Given the description of an element on the screen output the (x, y) to click on. 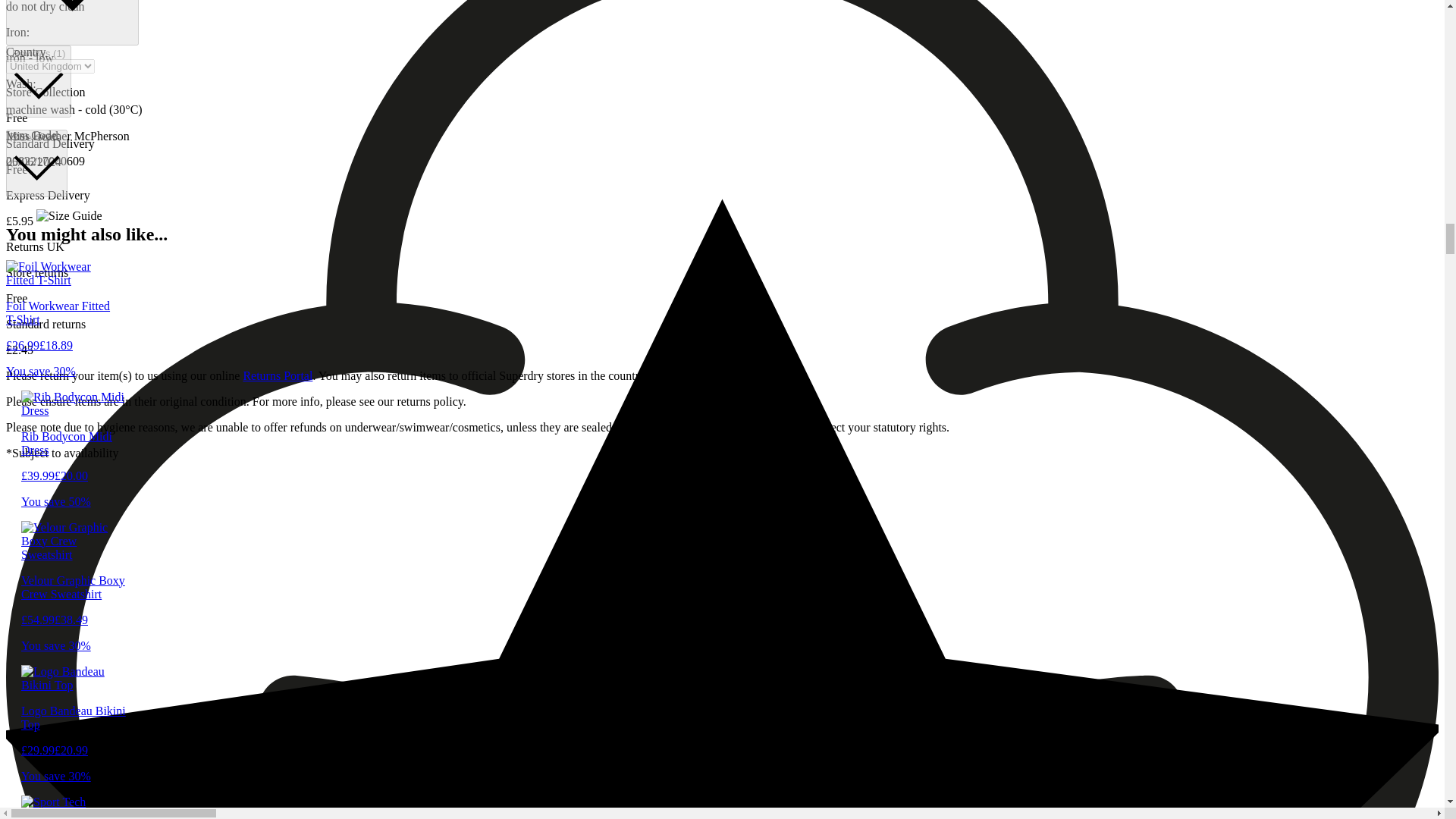
Foil Workwear Fitted T-Shirt (58, 325)
Returns Portal (278, 375)
Logo Bandeau Bikini Top (74, 730)
Size Guide (35, 163)
Velour Graphic Boxy Crew Sweatshirt (74, 600)
Rib Bodycon Midi Dress (74, 455)
Free UK Standard Delivery (71, 22)
